Given the description of an element on the screen output the (x, y) to click on. 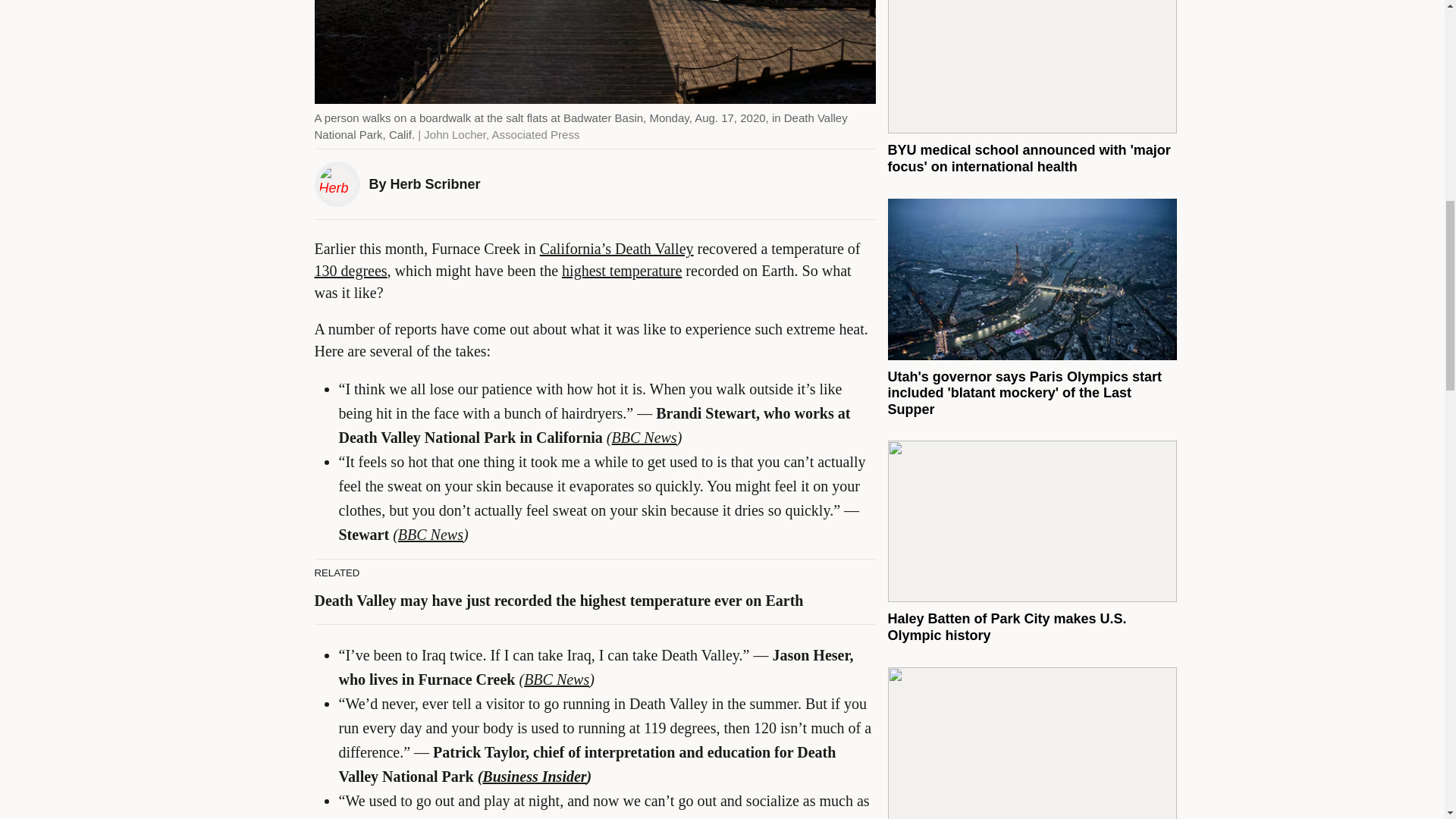
Business Insider (533, 776)
highest temperature (621, 270)
BBC News (644, 437)
BBC News (430, 534)
Herb Scribner (435, 183)
130 degrees (350, 270)
BBC News (556, 678)
